Given the description of an element on the screen output the (x, y) to click on. 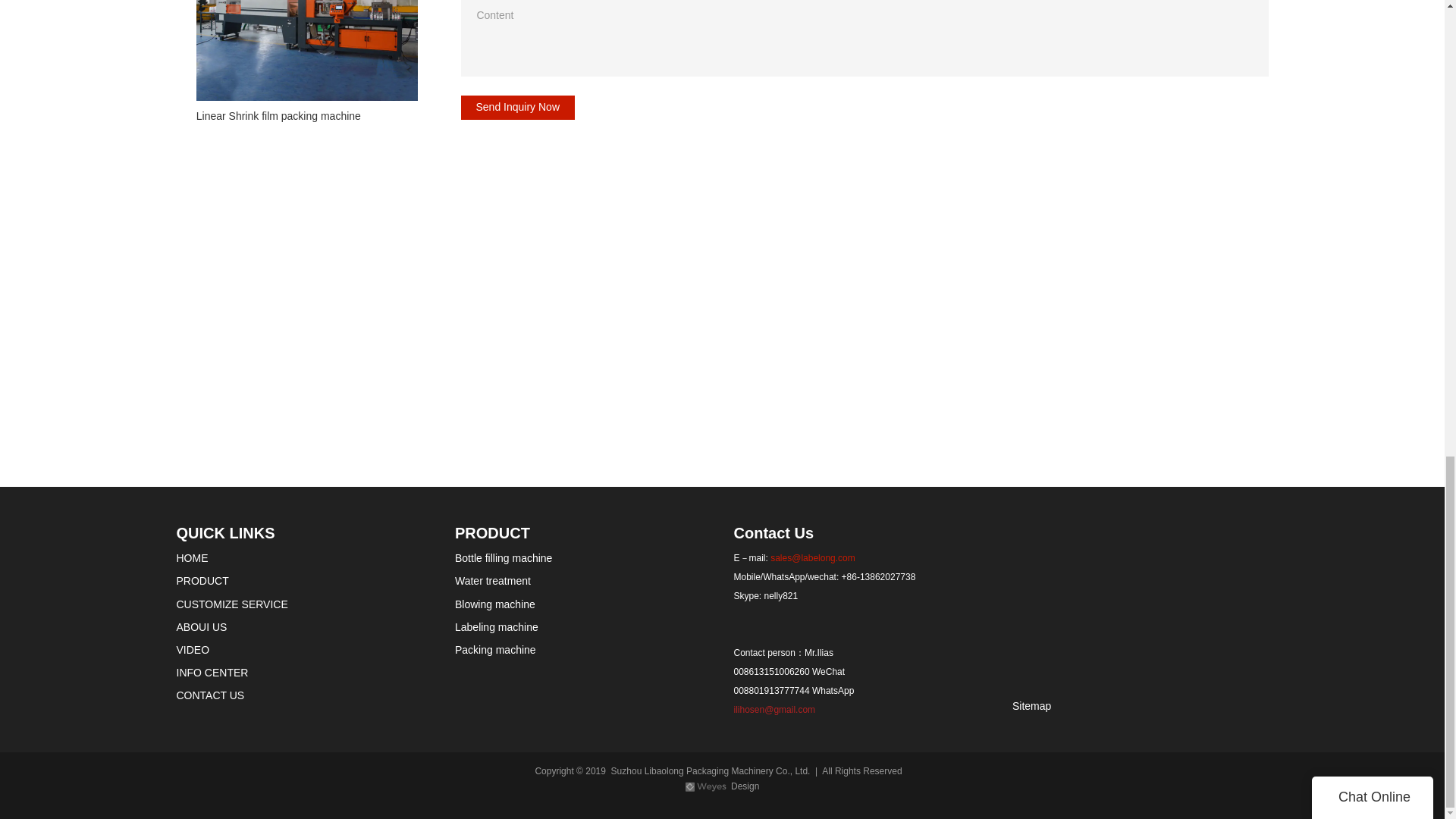
Linear Shrink film packing machine (306, 65)
Send Inquiry Now (518, 107)
